Given the description of an element on the screen output the (x, y) to click on. 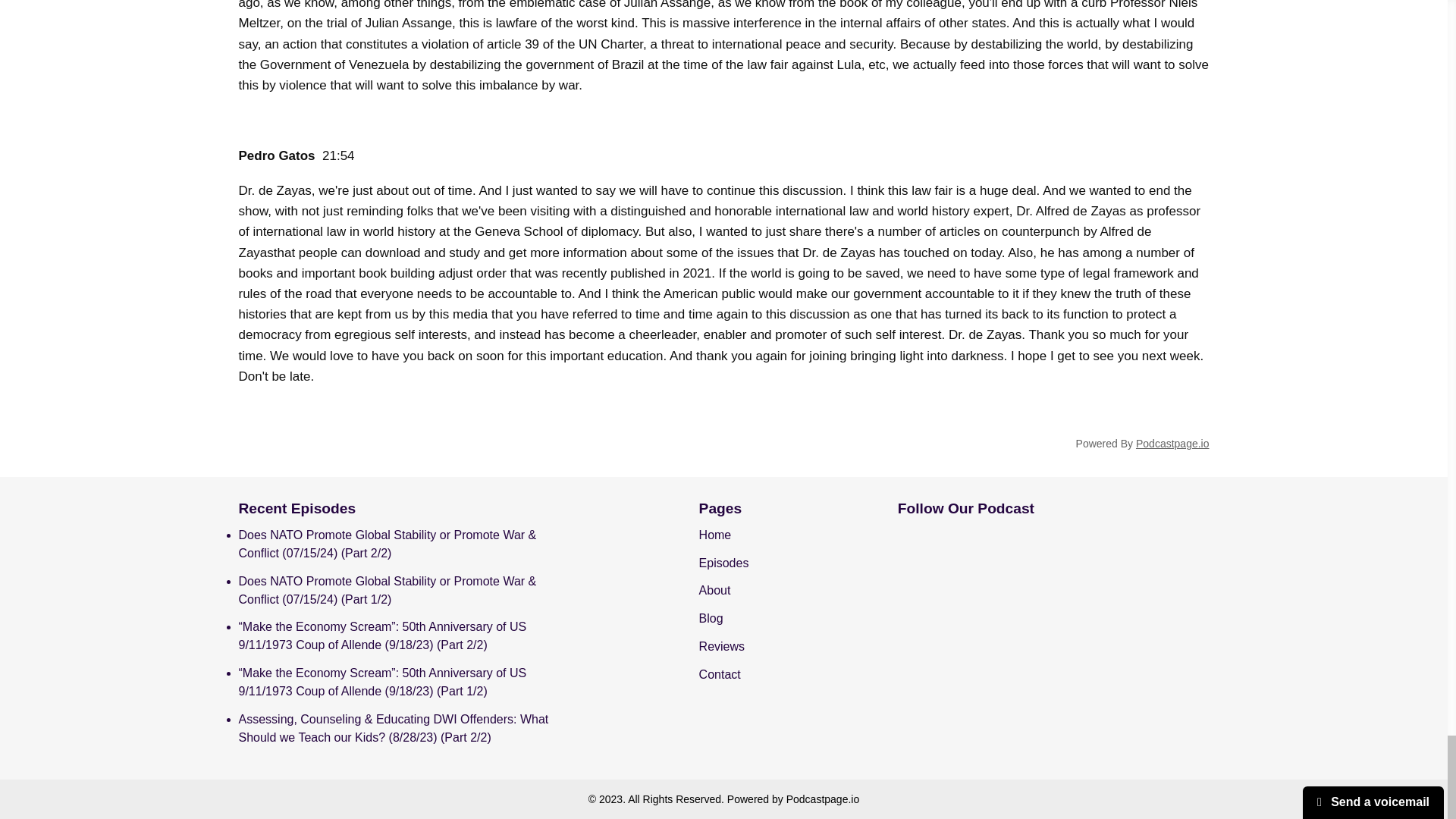
Apple Podcasts (914, 589)
Podchaser (1099, 612)
Goodpods (1145, 571)
Google Podcasts (959, 589)
RSS (1052, 594)
Powered By Podcastpage.io (1142, 443)
Castro (1052, 553)
Blog (710, 617)
About (714, 590)
Player FM (959, 612)
Pocket Casts (914, 612)
Contact (719, 674)
Episodes (723, 562)
Overcast (1099, 571)
Reviews (721, 645)
